Given the description of an element on the screen output the (x, y) to click on. 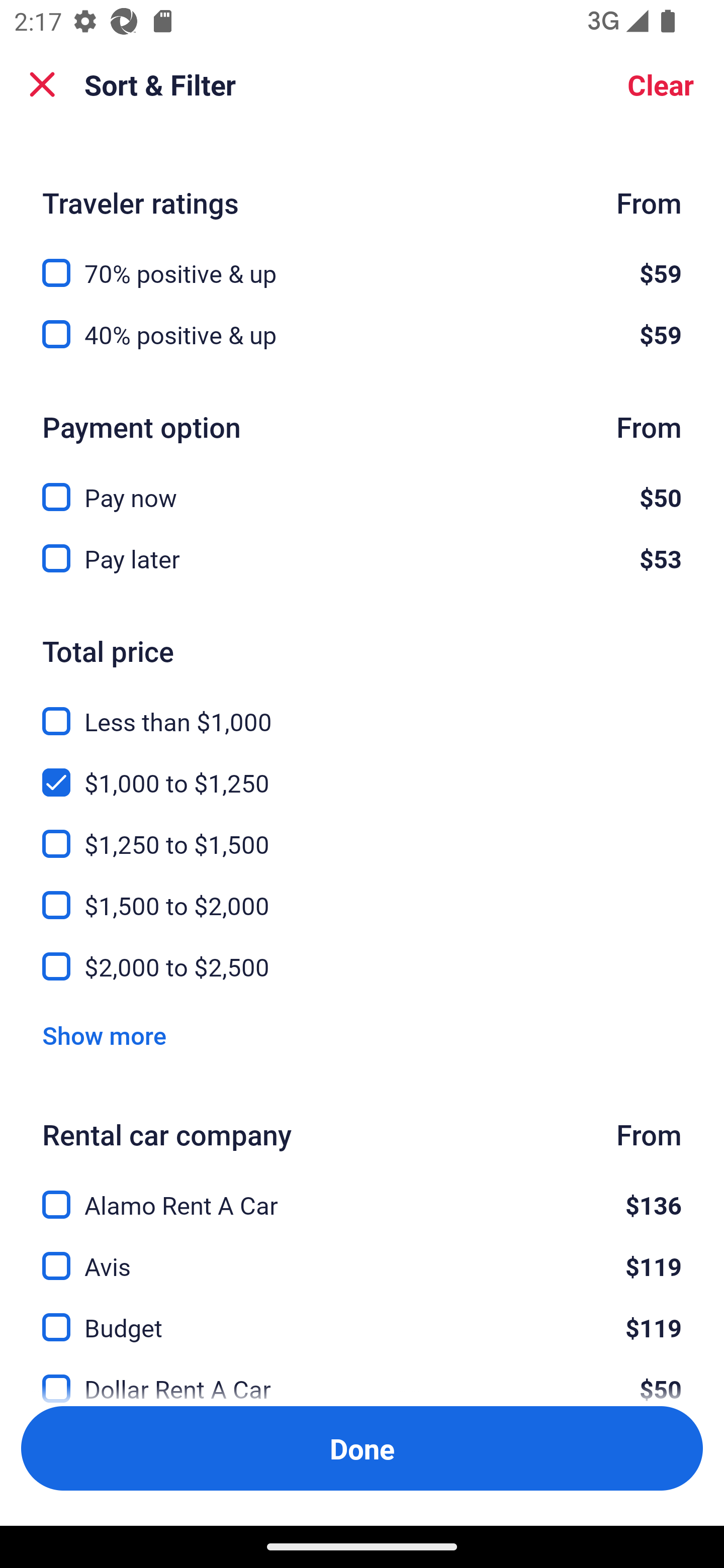
Close Sort and Filter (42, 84)
Clear (660, 84)
70% positive & up, $59 70% positive & up $59 (361, 261)
40% positive & up, $59 40% positive & up $59 (361, 334)
Pay now, $50 Pay now $50 (361, 484)
Pay later, $53 Pay later $53 (361, 557)
Less than $1,000, Less than $1,000 (361, 709)
$1,000 to $1,250, $1,000 to $1,250 (361, 771)
$1,250 to $1,500, $1,250 to $1,500 (361, 832)
$1,500 to $2,000, $1,500 to $2,000 (361, 894)
$2,000 to $2,500, $2,000 to $2,500 (361, 967)
Show more Show more Link (103, 1034)
Alamo Rent A Car, $136 Alamo Rent A Car $136 (361, 1193)
Avis, $119 Avis $119 (361, 1254)
Budget, $119 Budget $119 (361, 1315)
Dollar Rent A Car, $50 Dollar Rent A Car $50 (361, 1376)
Apply and close Sort and Filter Done (361, 1448)
